Given the description of an element on the screen output the (x, y) to click on. 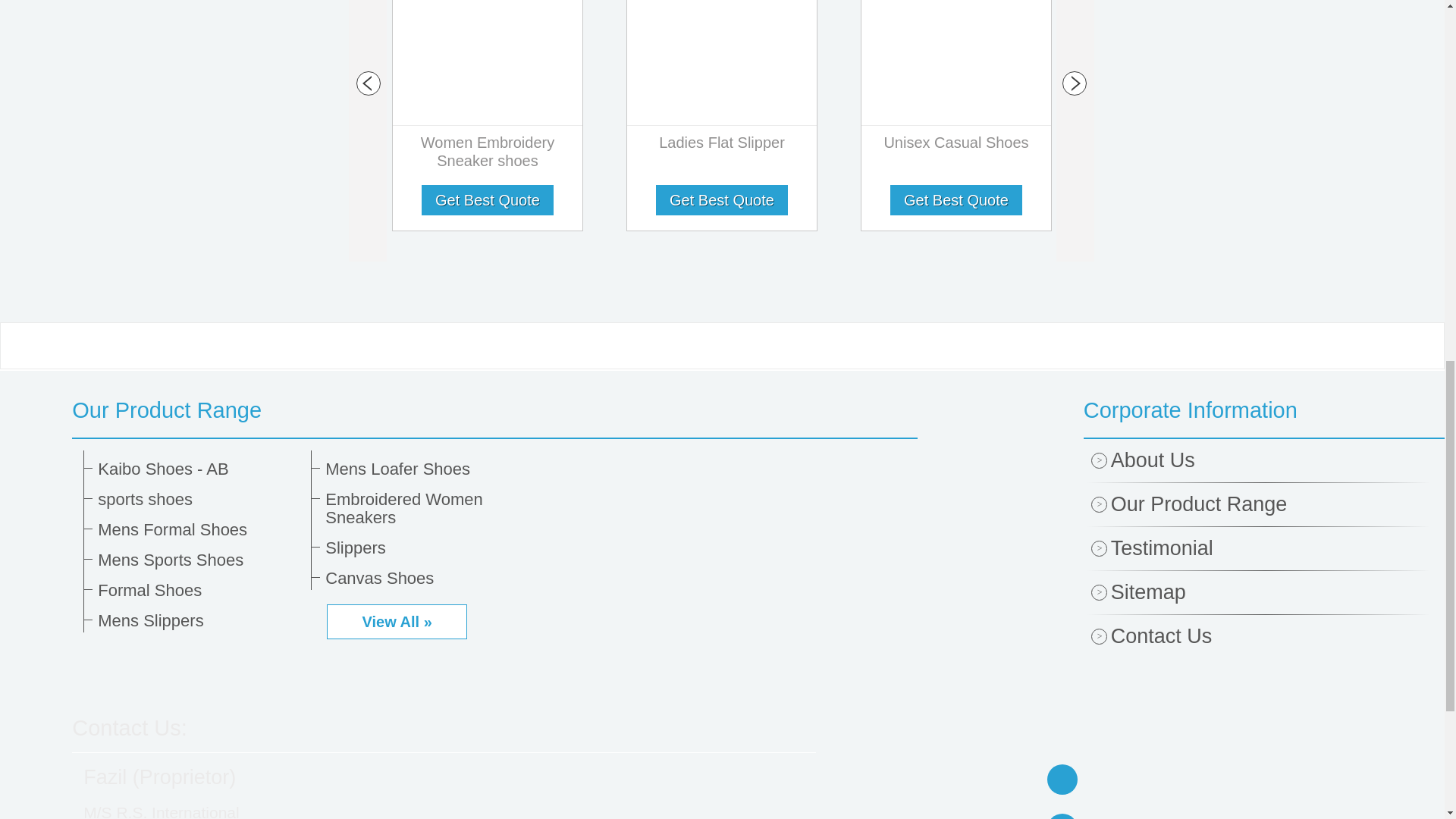
sports shoes (198, 499)
Kaibo Shoes - AB (198, 469)
Mens Sports Shoes (198, 560)
Formal Shoes (198, 590)
Ladies Flat Slipper (721, 146)
Contact Us: (129, 727)
Our Product Range (494, 410)
Mens Loafer Shoes (426, 469)
Mens Slippers (198, 620)
Canvas Shoes (426, 578)
Unisex Casual Shoes (956, 146)
Mens Formal Shoes (198, 529)
Women Embroidery Sneaker shoes (487, 155)
Embroidered Women Sneakers (426, 508)
Slippers (426, 547)
